Given the description of an element on the screen output the (x, y) to click on. 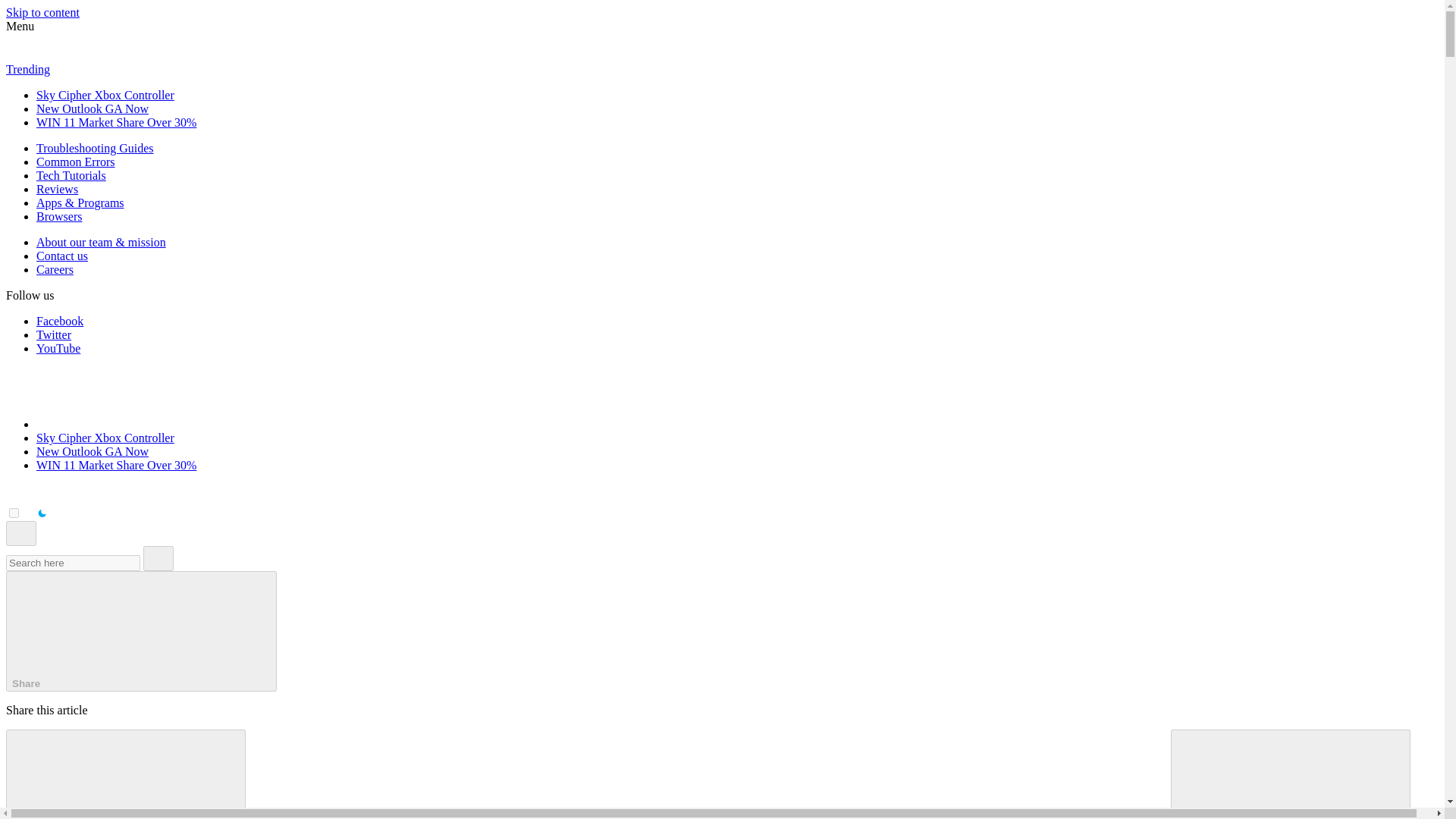
Share this article (140, 630)
New Outlook GA Now (92, 108)
Reviews (57, 188)
Open search bar (20, 533)
Skip to content (42, 11)
New Outlook GA Now (92, 451)
Sky Cipher Xbox Controller (105, 437)
Search (157, 558)
Twitter (53, 334)
YouTube (58, 348)
Troubleshooting Guides (95, 147)
Trending (27, 69)
Share (140, 630)
Careers (55, 269)
Contact us (61, 255)
